Given the description of an element on the screen output the (x, y) to click on. 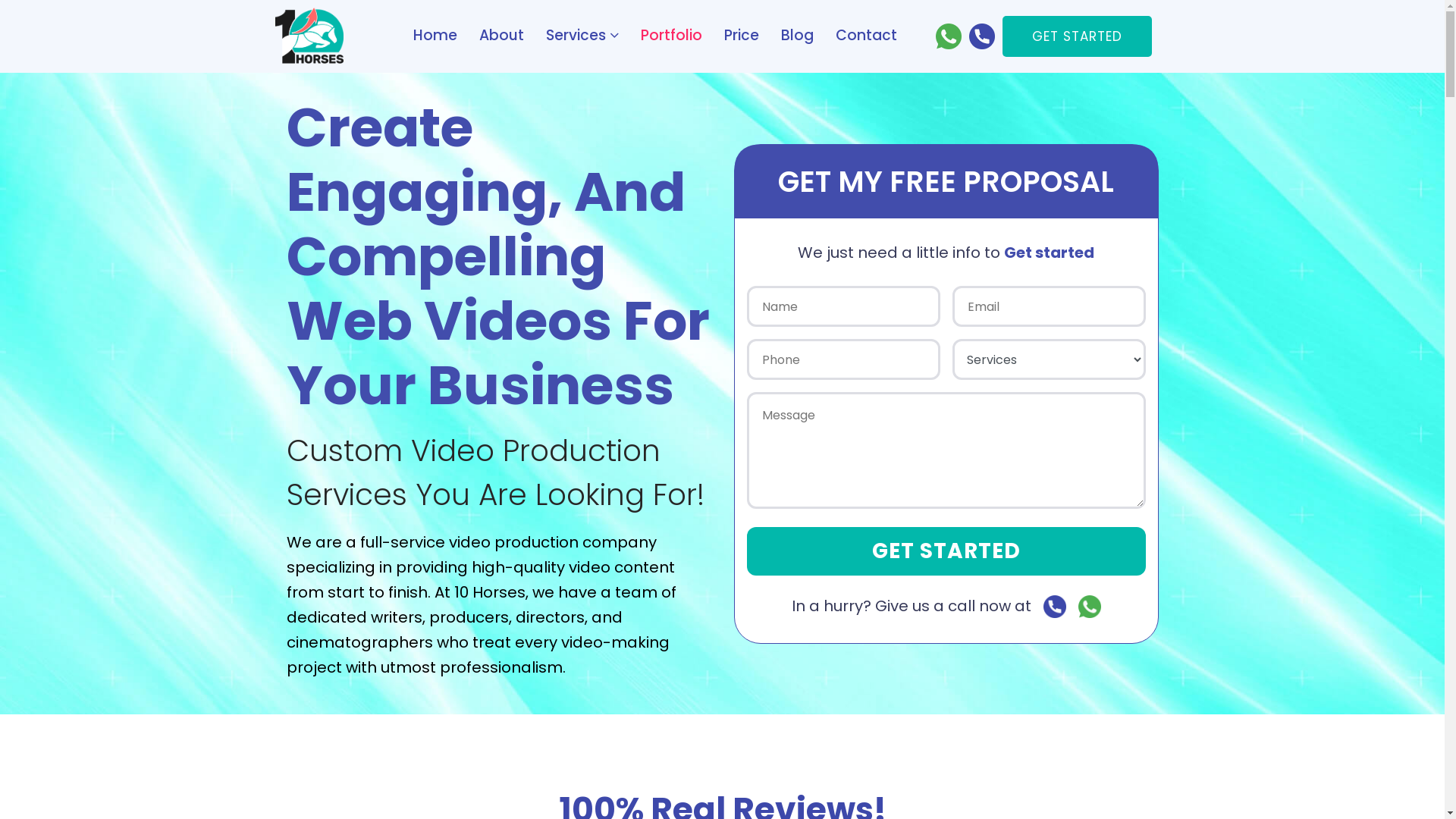
Contact Element type: text (866, 35)
Services Element type: text (582, 35)
Price Element type: text (740, 35)
Home Element type: text (434, 35)
GET STARTED Element type: text (945, 551)
About Element type: text (501, 35)
GET STARTED Element type: text (1076, 35)
Blog Element type: text (797, 35)
Portfolio Element type: text (670, 35)
